Given the description of an element on the screen output the (x, y) to click on. 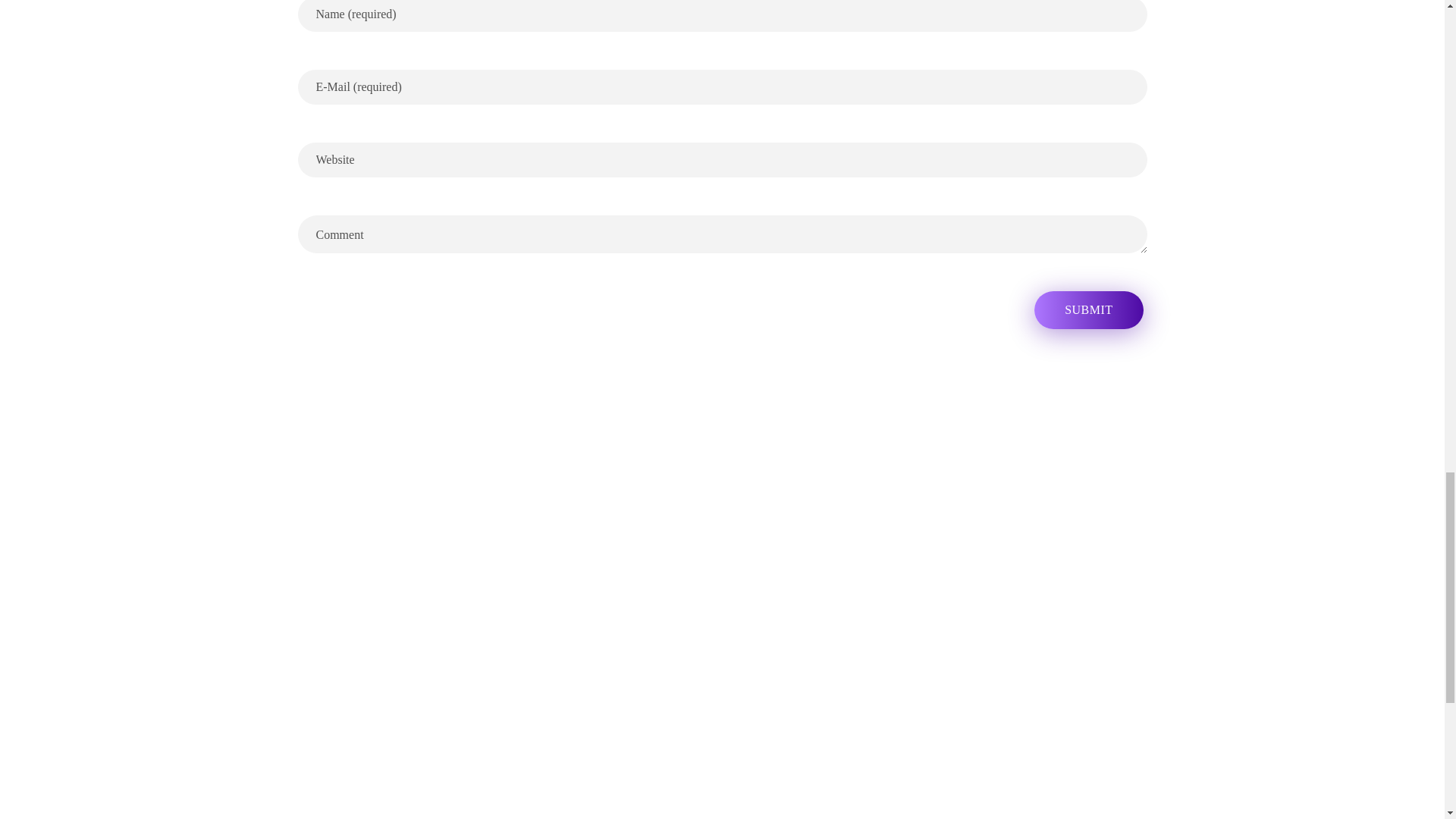
Submit (1087, 310)
Submit (1087, 310)
